Given the description of an element on the screen output the (x, y) to click on. 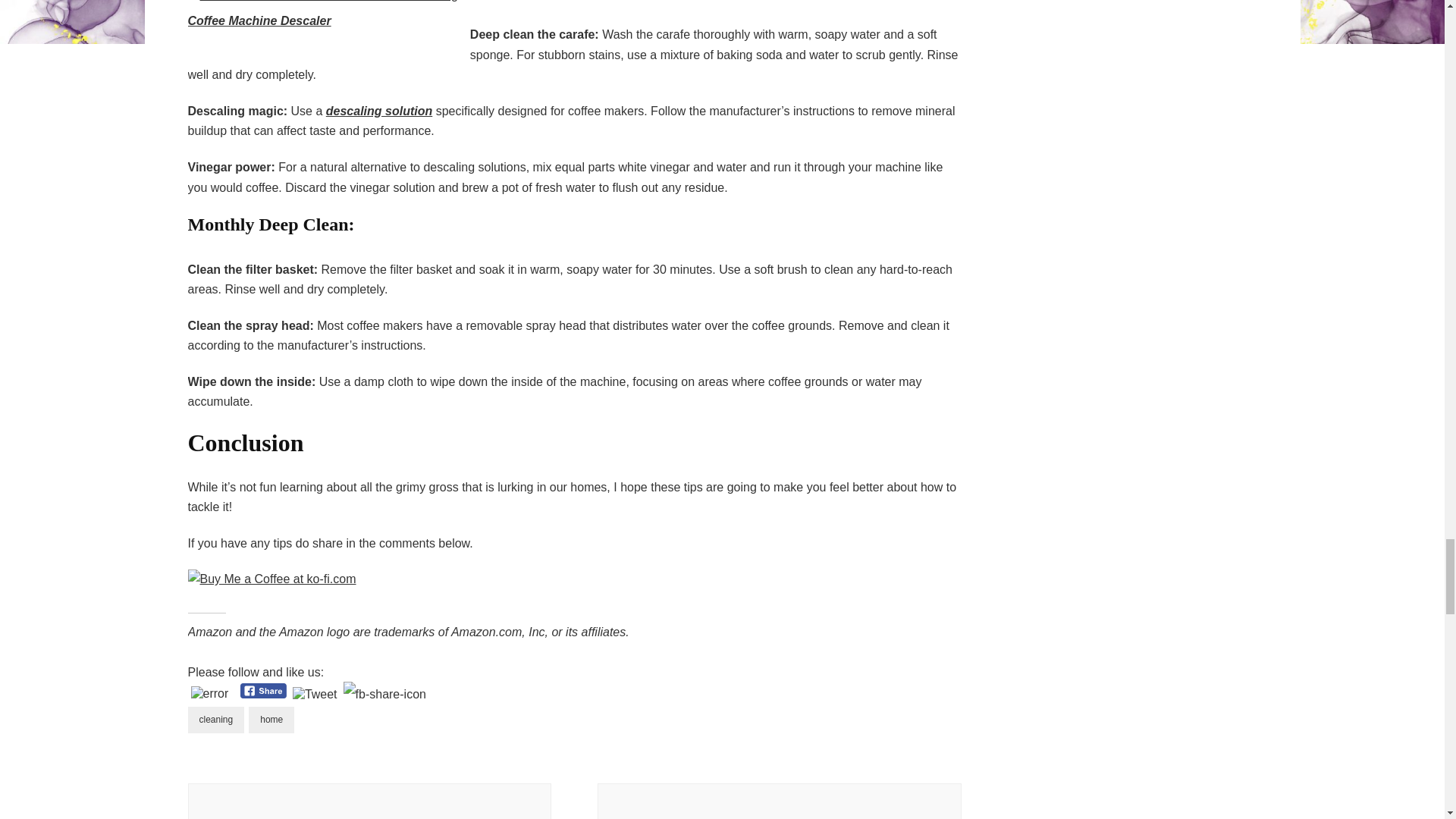
Tweet (314, 694)
Facebook Share (263, 691)
Pin Share (384, 693)
